Given the description of an element on the screen output the (x, y) to click on. 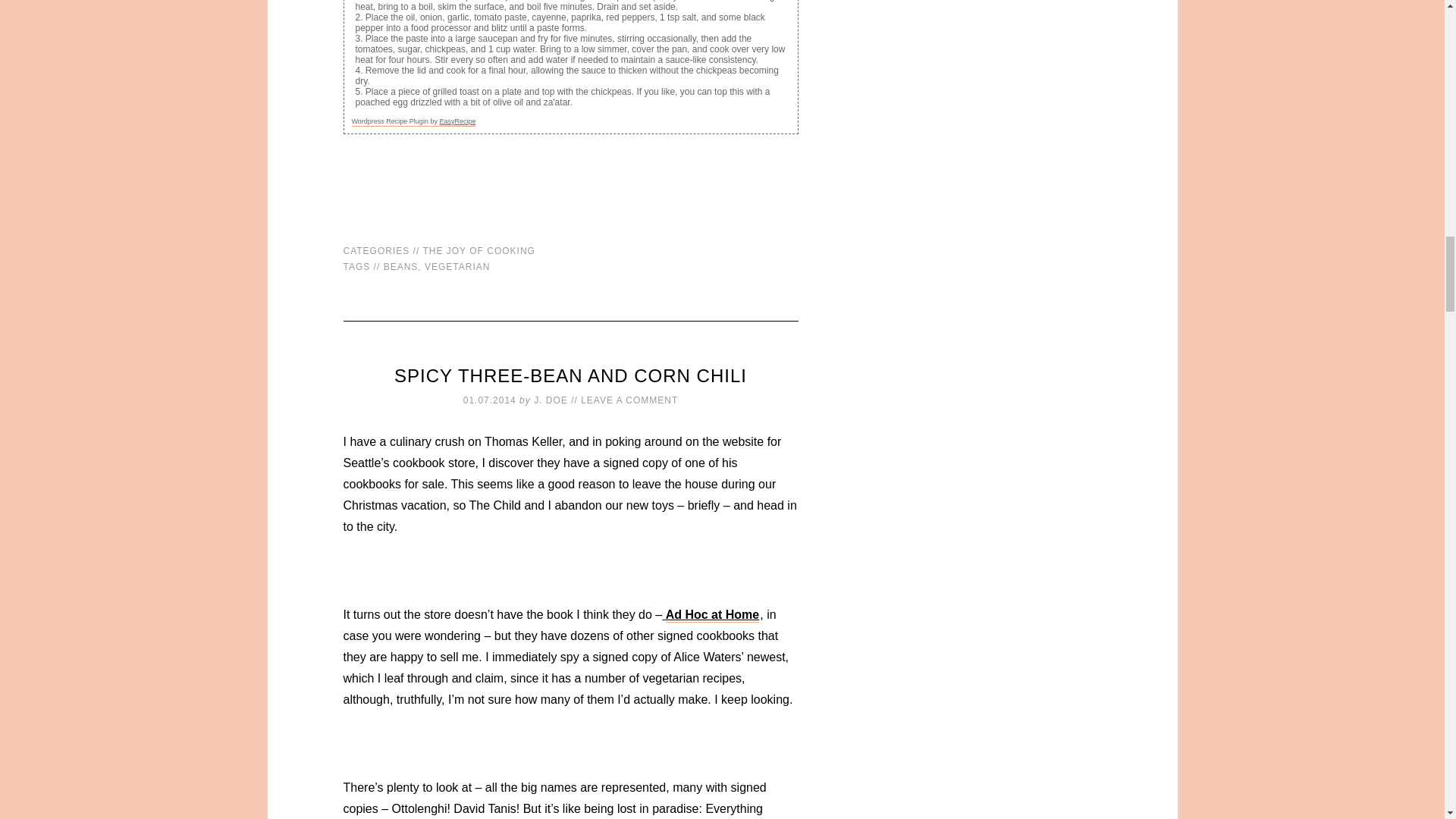
VEGETARIAN (457, 266)
Ad Hoc at Home (712, 615)
BEANS (401, 266)
Wordpress Recipe Plugin by EasyRecipe (414, 121)
J. DOE (550, 398)
SPICY THREE-BEAN AND CORN CHILI (570, 375)
LEAVE A COMMENT (629, 398)
EasyRecipe Wordpress Recipe Plugin (414, 121)
THE JOY OF COOKING (478, 250)
